Given the description of an element on the screen output the (x, y) to click on. 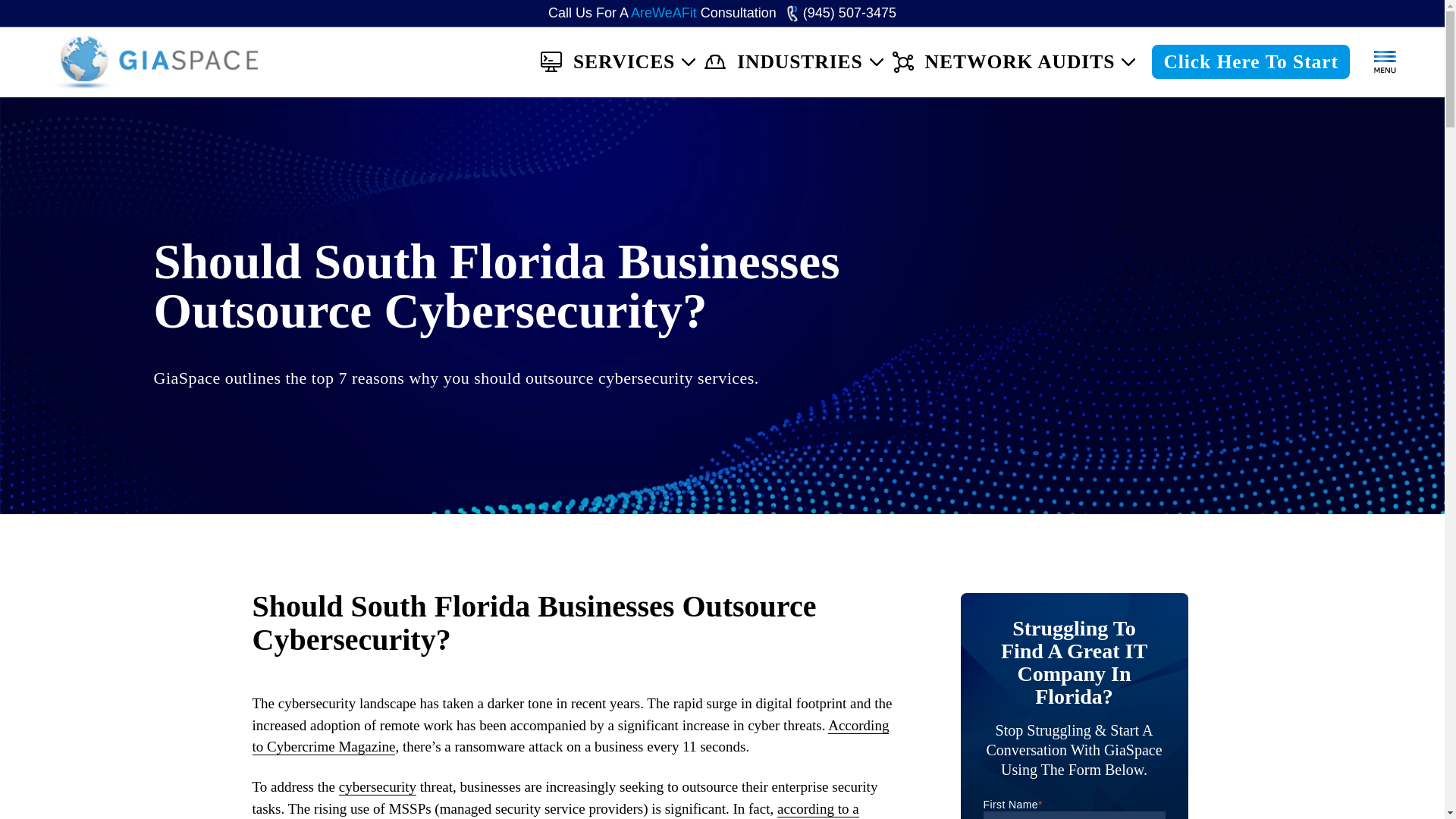
Open Menu (1385, 61)
SERVICES (613, 61)
NETWORK AUDITS (1009, 61)
INDUSTRIES (788, 61)
Start A Conversation (1250, 61)
cybersecurity (377, 786)
